Given the description of an element on the screen output the (x, y) to click on. 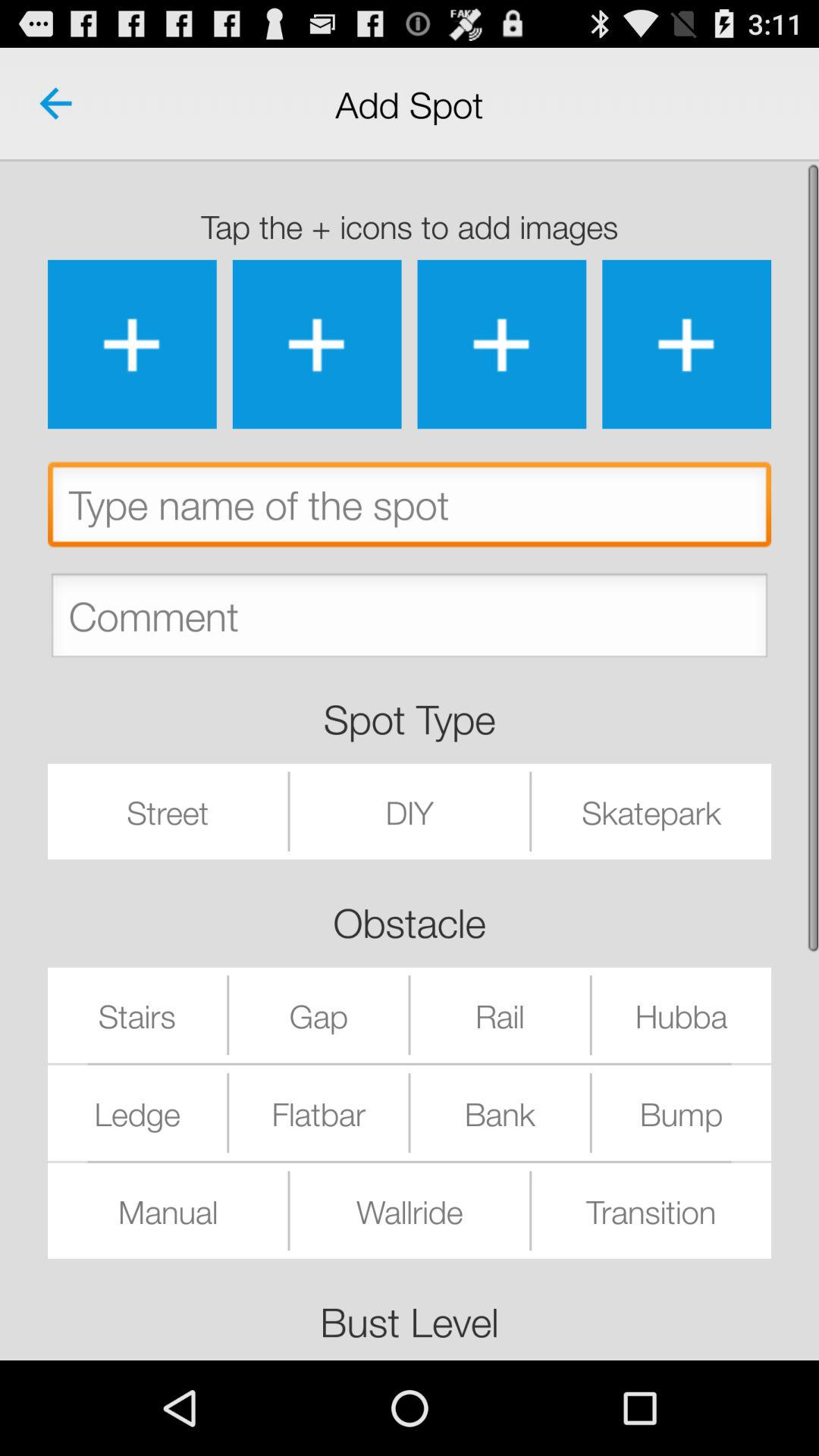
select the item below skatepark item (681, 1014)
